Given the description of an element on the screen output the (x, y) to click on. 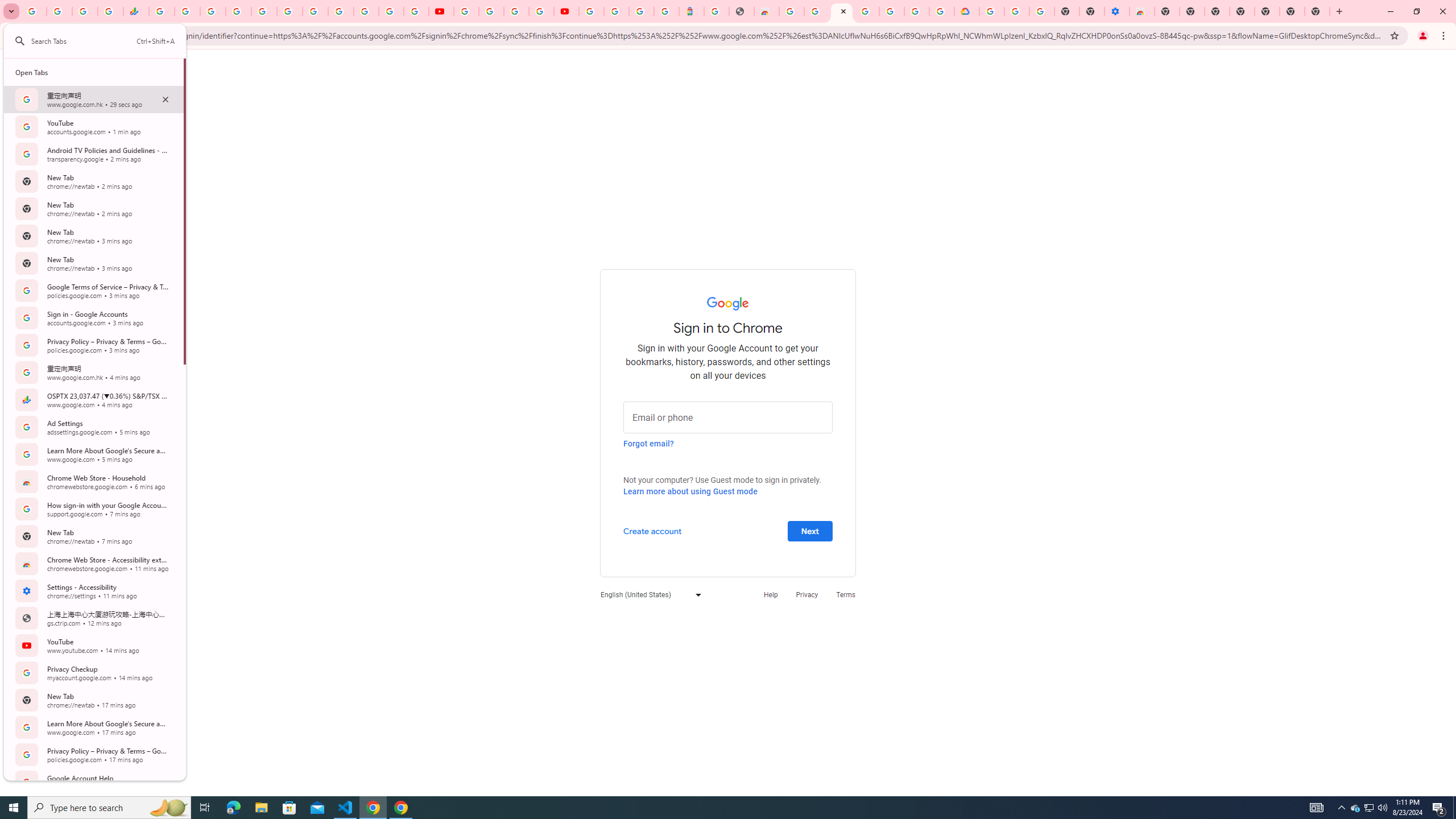
Learn more about using Guest mode (689, 491)
AutomationID: 4105 (1316, 807)
Google Account Help (1016, 11)
YouTube (440, 11)
Ad Settings (816, 11)
Create account (651, 530)
Running applications (717, 807)
Task View (204, 807)
Notification Chevron (1341, 807)
File Explorer (261, 807)
AutomationID: baseSvg (20, 40)
Chrome Web Store - Accessibility extensions (1141, 11)
YouTube accounts.google.com 1 min ago Open Tab (93, 126)
